Given the description of an element on the screen output the (x, y) to click on. 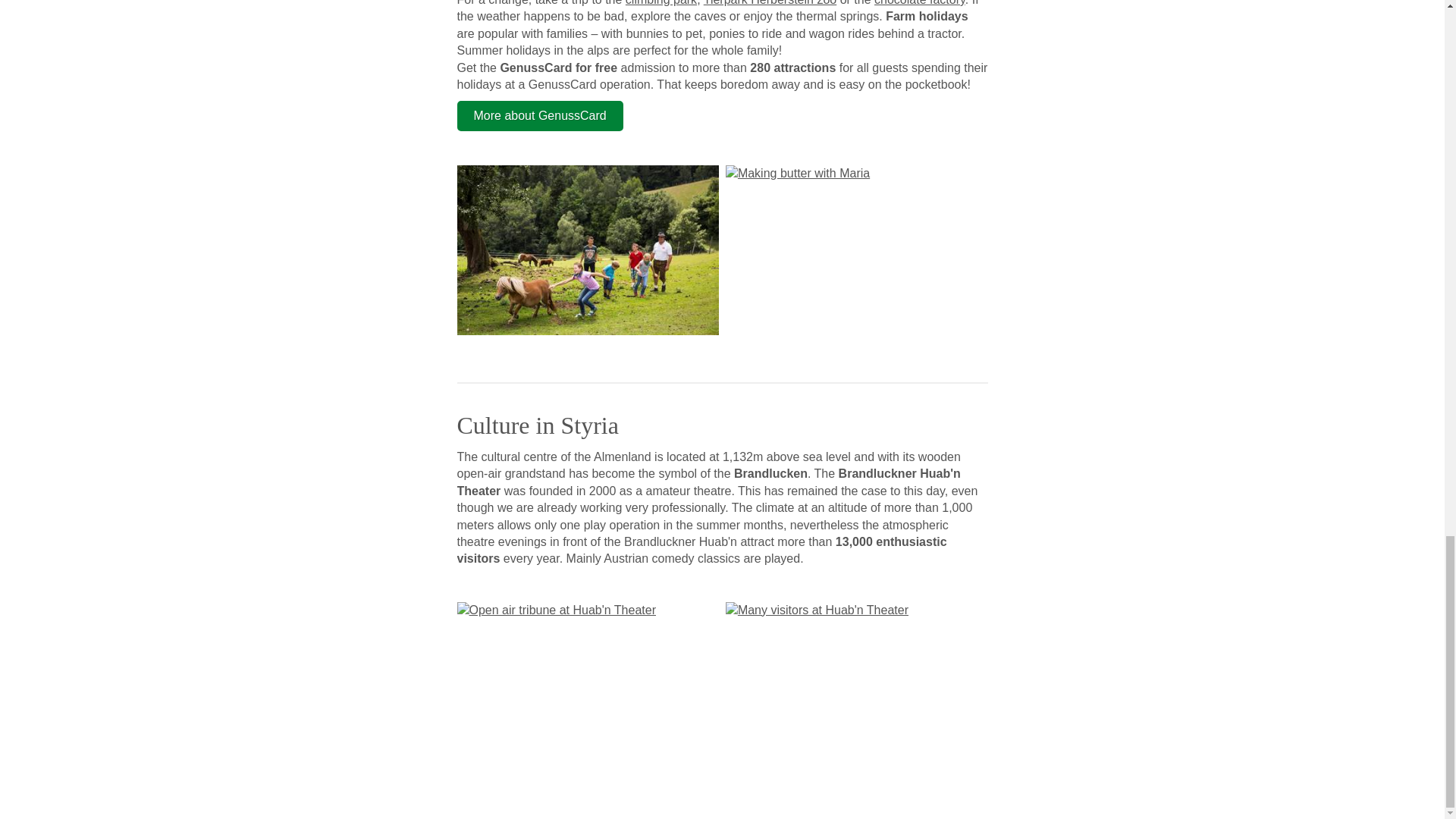
chocolate factory (920, 2)
Tierpark Herberstein zoo (769, 2)
to the animal park Herberstein (769, 2)
climbing park (661, 2)
to the climbing park (661, 2)
More about GenussCard (540, 115)
More about GenussCard (540, 115)
to the chocolate factory (920, 2)
